Given the description of an element on the screen output the (x, y) to click on. 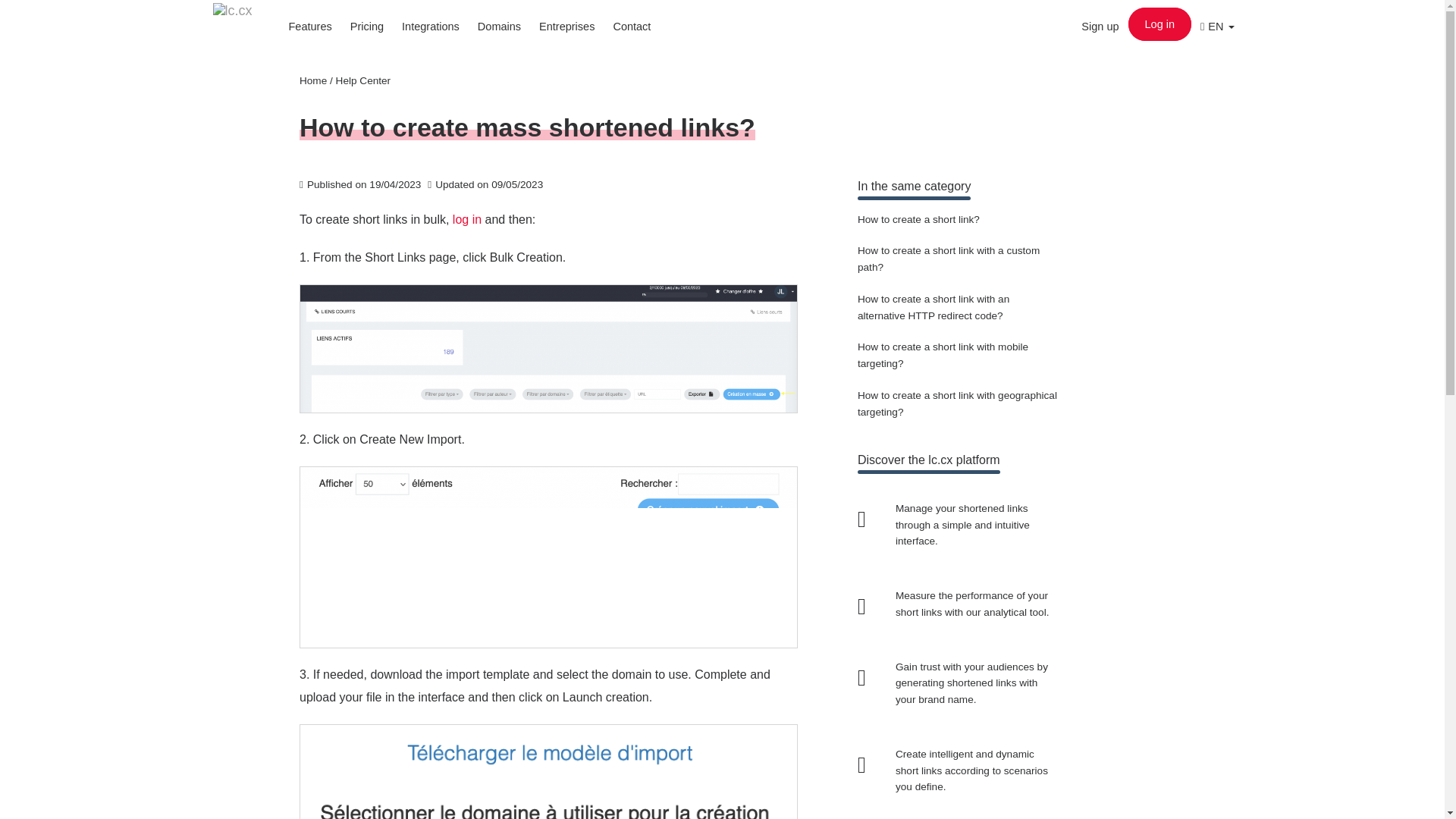
Features (309, 26)
How to create a short link? (918, 219)
log in (466, 219)
Home (312, 80)
Log in (1160, 23)
Help Center (363, 80)
Pricing (366, 26)
Contact (631, 26)
Sign up (1098, 26)
Integrations (430, 26)
Entreprises (566, 26)
How to create a short link with geographical targeting? (957, 403)
How to create a short link with a custom path? (948, 258)
Domains (498, 26)
